Given the description of an element on the screen output the (x, y) to click on. 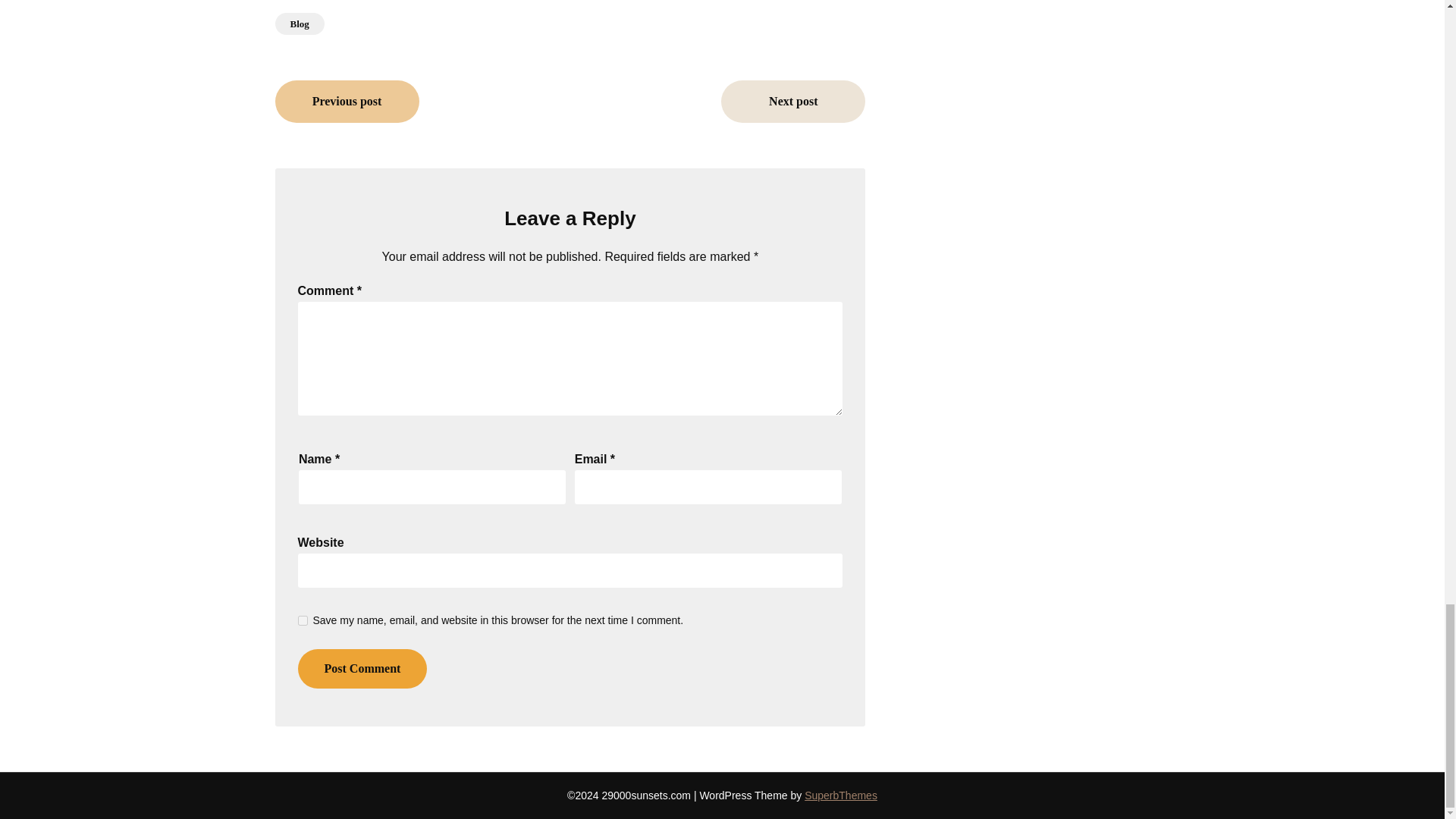
Post Comment (361, 668)
SuperbThemes (841, 795)
Post Comment (361, 668)
Blog (299, 24)
yes (302, 620)
Next post (792, 101)
Previous post (347, 101)
